Given the description of an element on the screen output the (x, y) to click on. 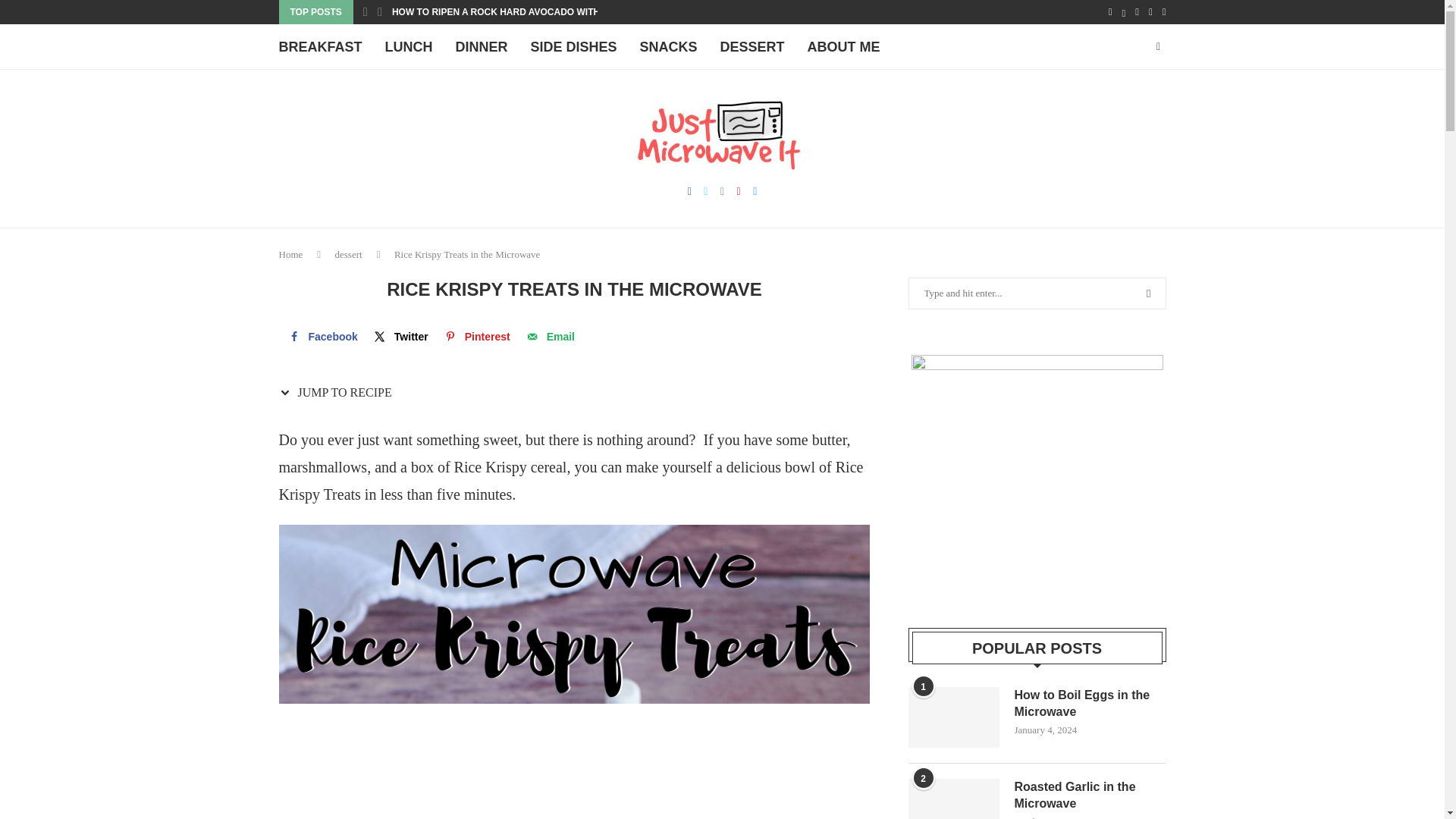
Home (290, 254)
DESSERT (752, 46)
Pinterest (475, 336)
DINNER (481, 46)
Send over email (548, 336)
SNACKS (668, 46)
Save to Pinterest (475, 336)
ABOUT ME (844, 46)
Facebook (322, 336)
LUNCH (408, 46)
